Given the description of an element on the screen output the (x, y) to click on. 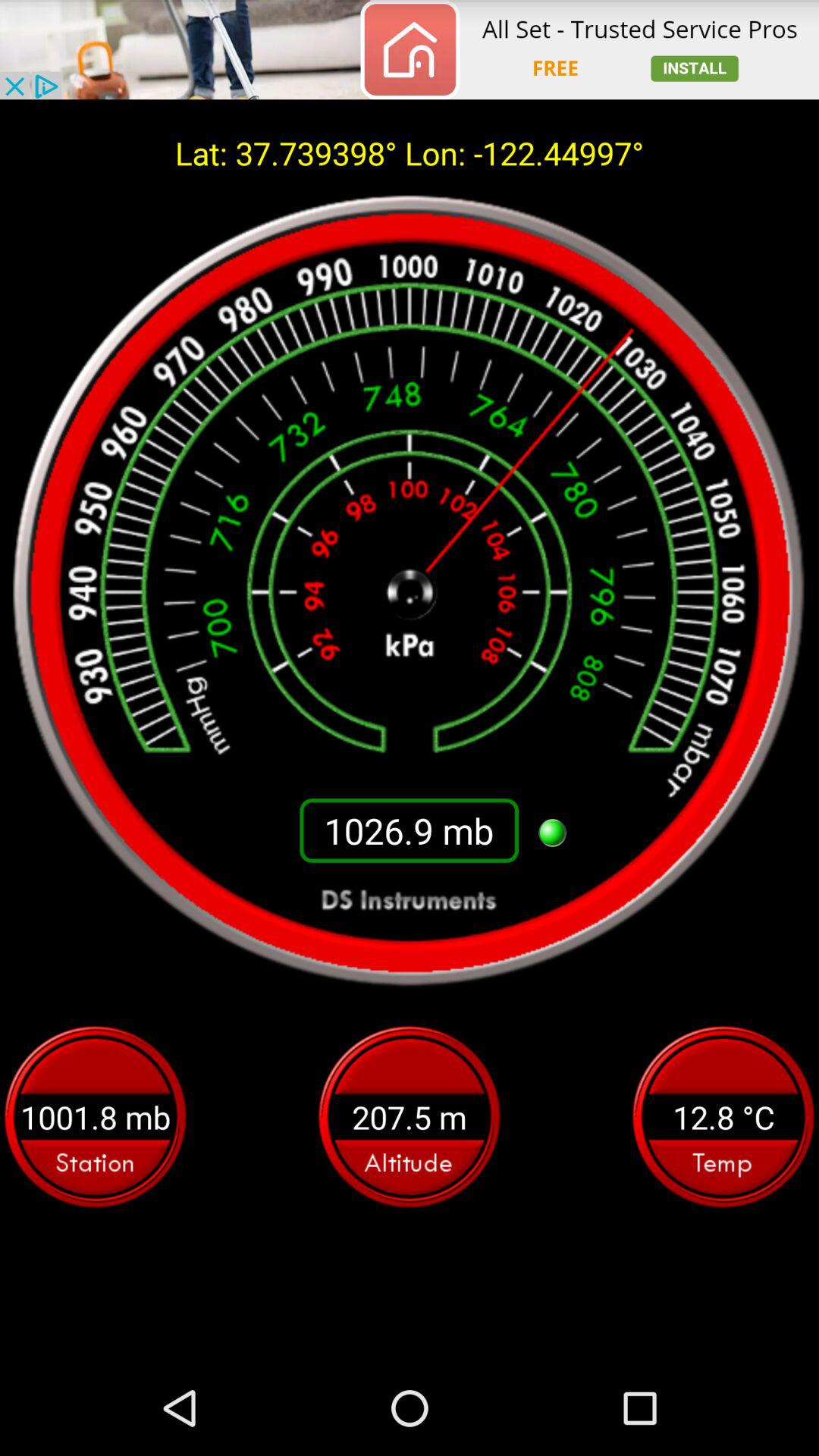
app advertisement option (409, 49)
